Given the description of an element on the screen output the (x, y) to click on. 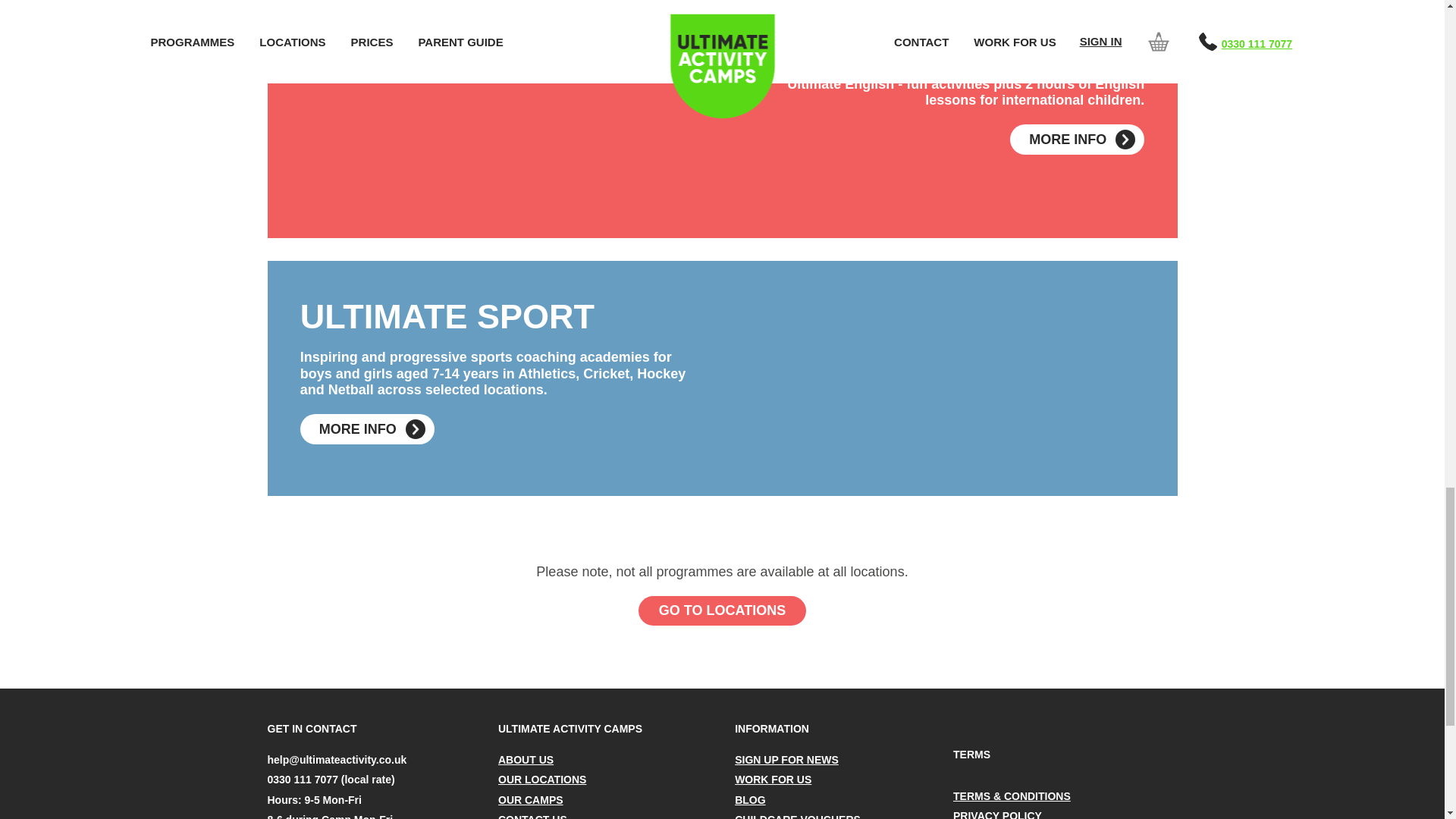
Go to locations (722, 611)
More info (1077, 139)
Telephone number (330, 779)
email link (336, 759)
